Given the description of an element on the screen output the (x, y) to click on. 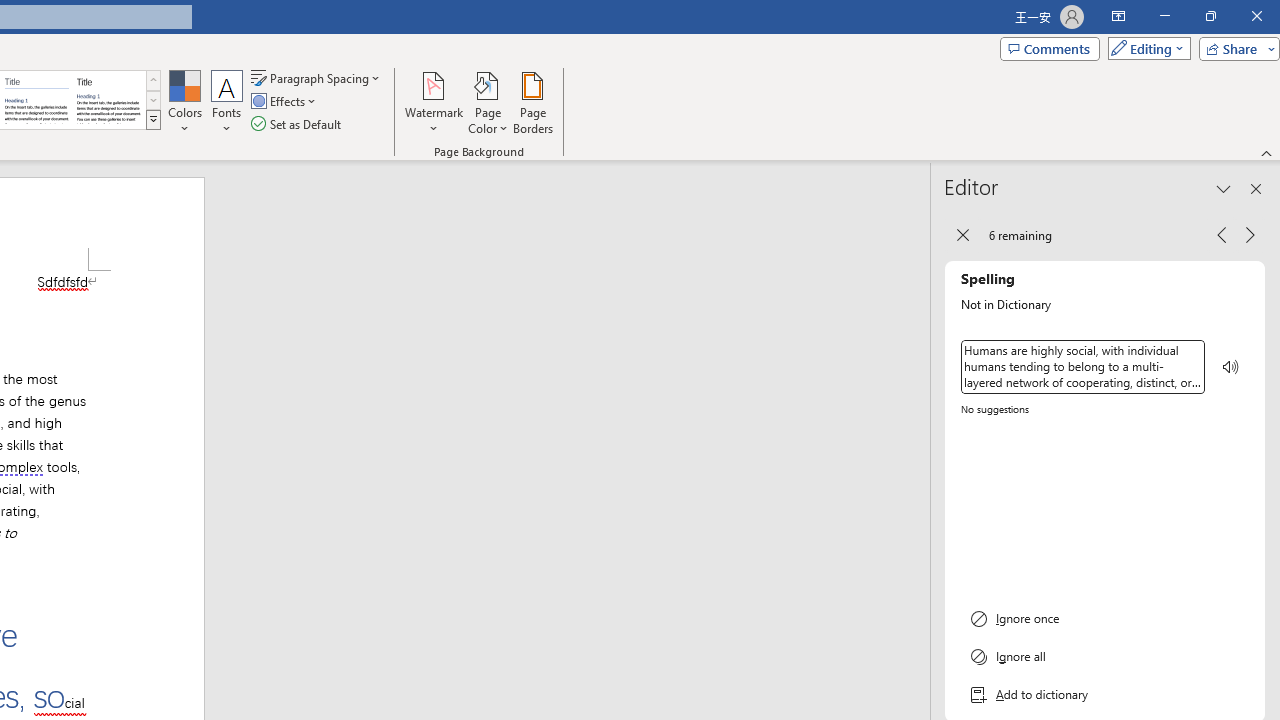
AutomationID: DrillInPane_ReadContext (1231, 367)
